Given the description of an element on the screen output the (x, y) to click on. 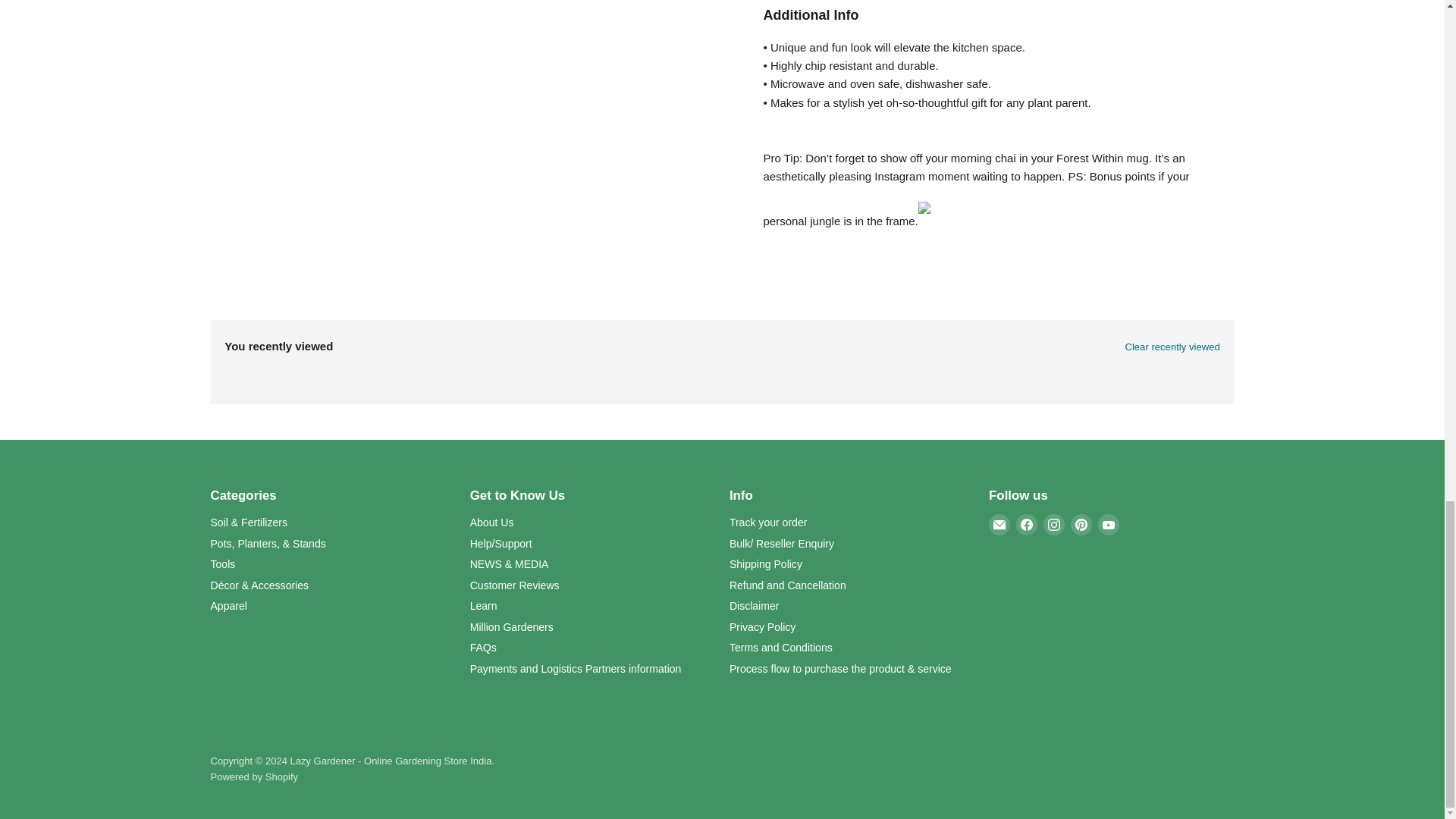
Pinterest (1081, 524)
Email (999, 524)
Facebook (1026, 524)
Instagram (1053, 524)
YouTube (1108, 524)
